Given the description of an element on the screen output the (x, y) to click on. 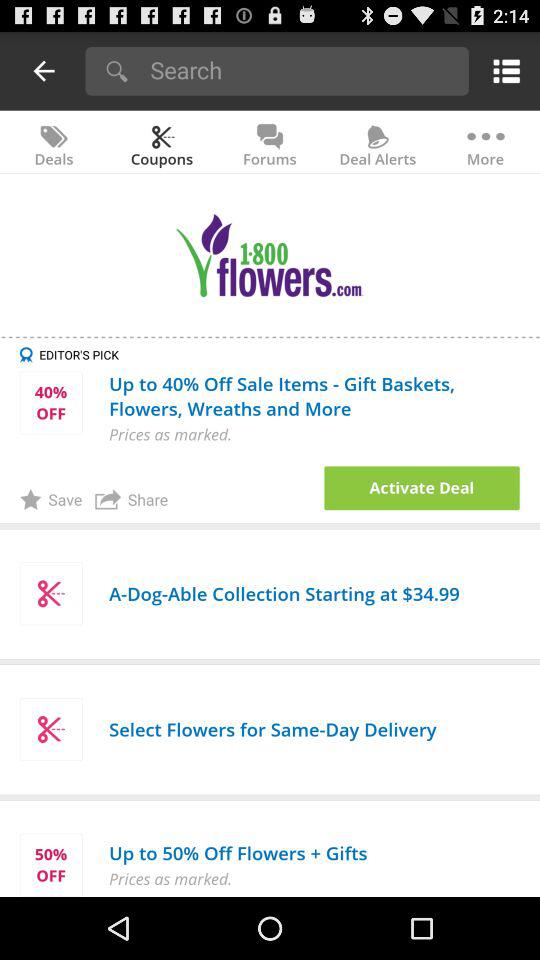
scroll until the editor's pick icon (279, 354)
